Given the description of an element on the screen output the (x, y) to click on. 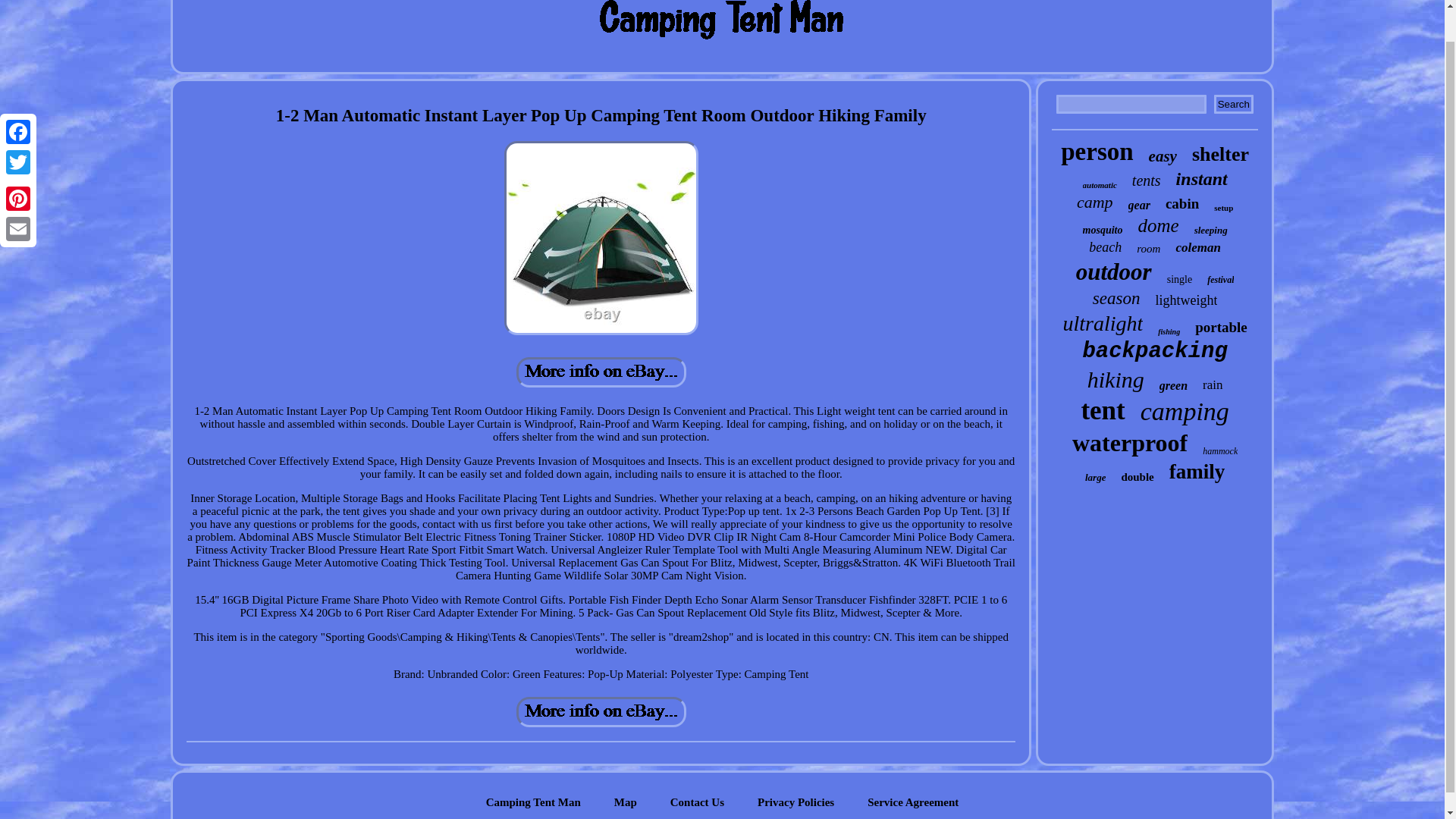
Twitter (17, 128)
room (1148, 248)
beach (1105, 247)
setup (1223, 207)
mosquito (1102, 230)
easy (1162, 156)
automatic (1099, 184)
dome (1157, 225)
person (1096, 152)
fishing (1168, 331)
instant (1201, 178)
shelter (1220, 154)
